Given the description of an element on the screen output the (x, y) to click on. 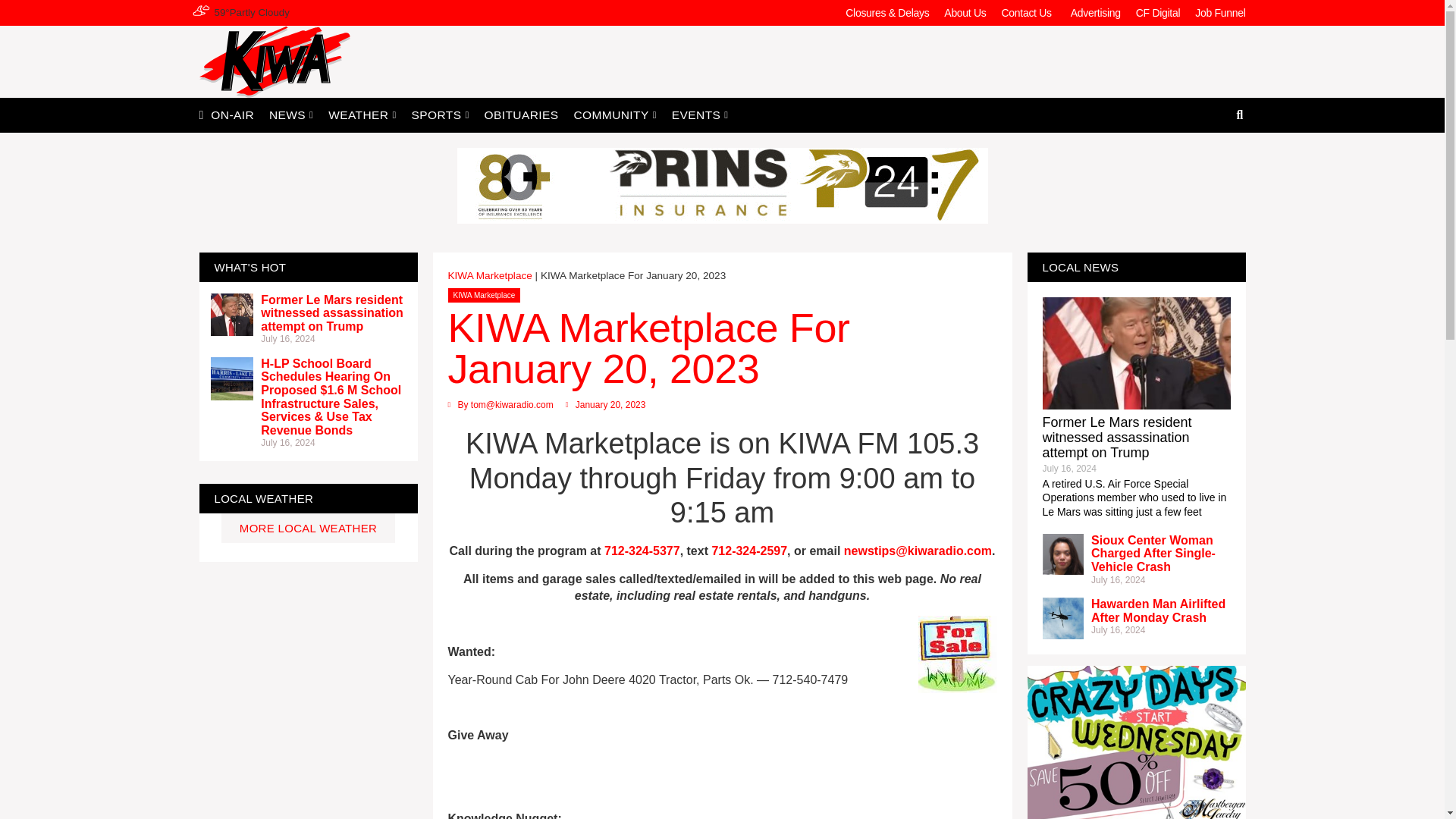
Contact Us (1028, 12)
Job Funnel (1220, 12)
OBITUARIES (521, 114)
WEATHER (361, 114)
NEWS (291, 114)
COMMUNITY (614, 114)
SPORTS (440, 114)
CF Digital (1158, 12)
About Us (964, 12)
Advertising (1095, 12)
ON-AIR (232, 114)
EVENTS (699, 114)
